Given the description of an element on the screen output the (x, y) to click on. 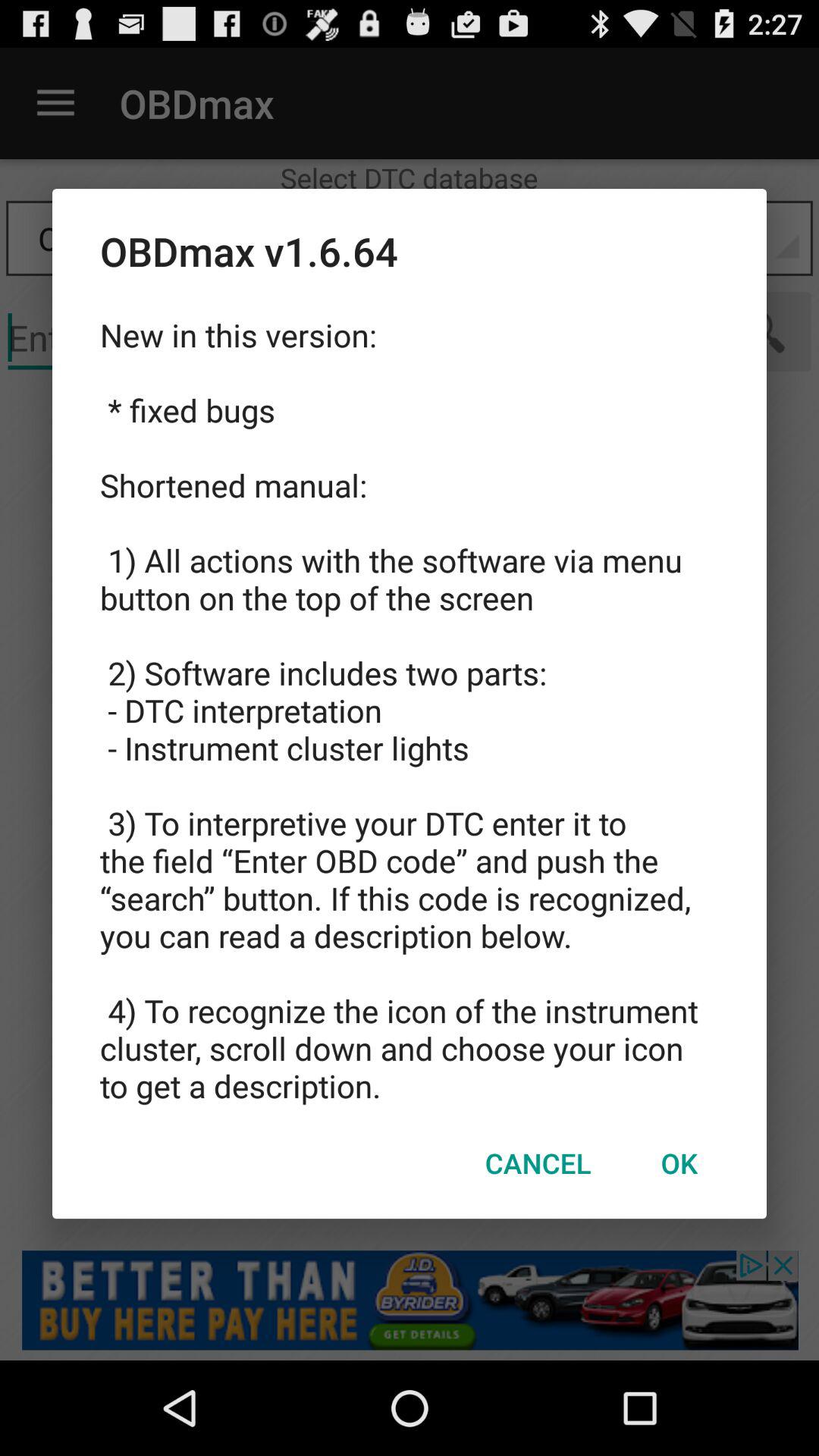
swipe until the ok icon (678, 1162)
